Given the description of an element on the screen output the (x, y) to click on. 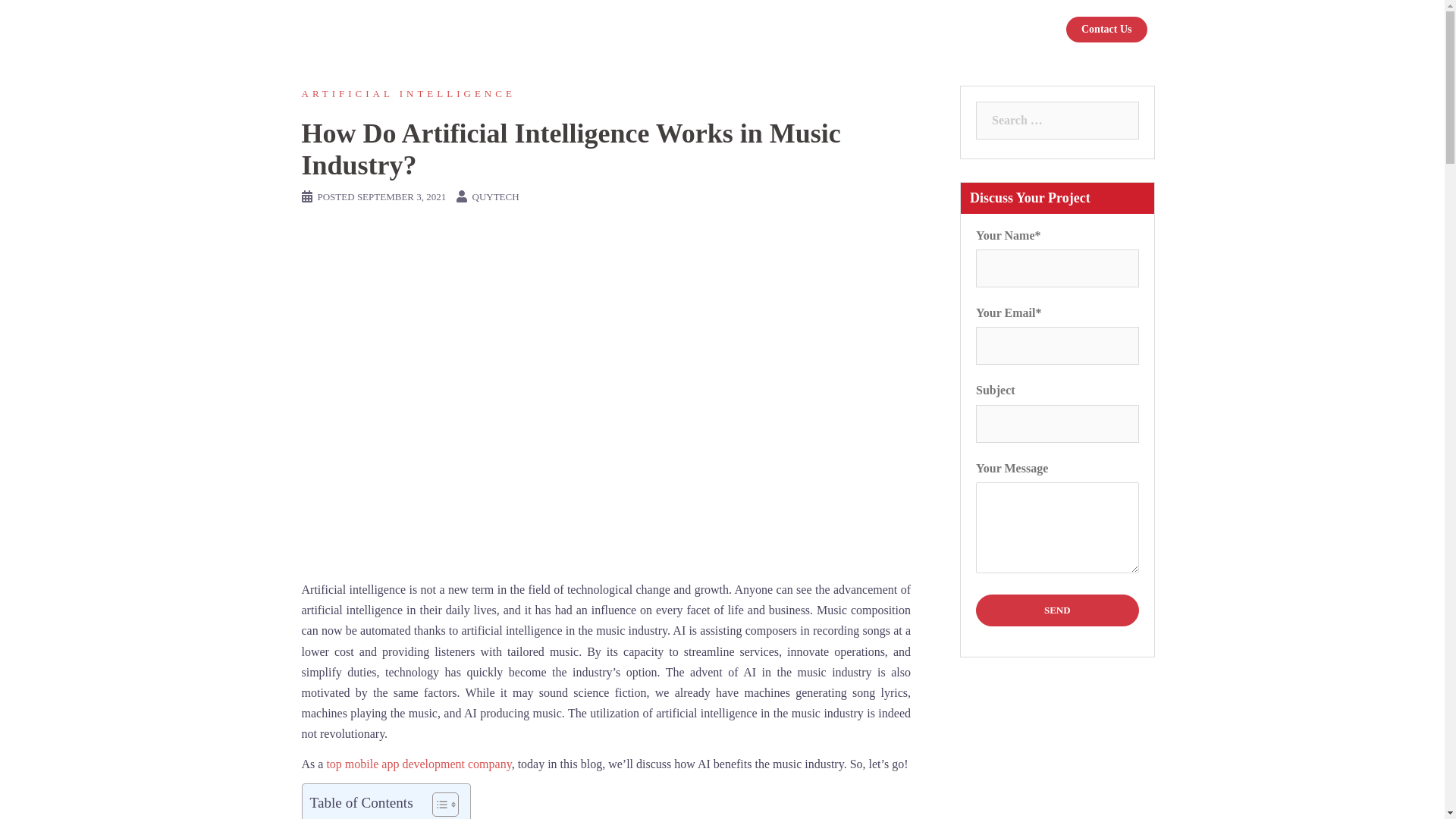
About (687, 29)
Artificial Intelligence (408, 93)
Quytech Blog (359, 29)
Home (633, 29)
Send (1056, 610)
Services (752, 29)
